Given the description of an element on the screen output the (x, y) to click on. 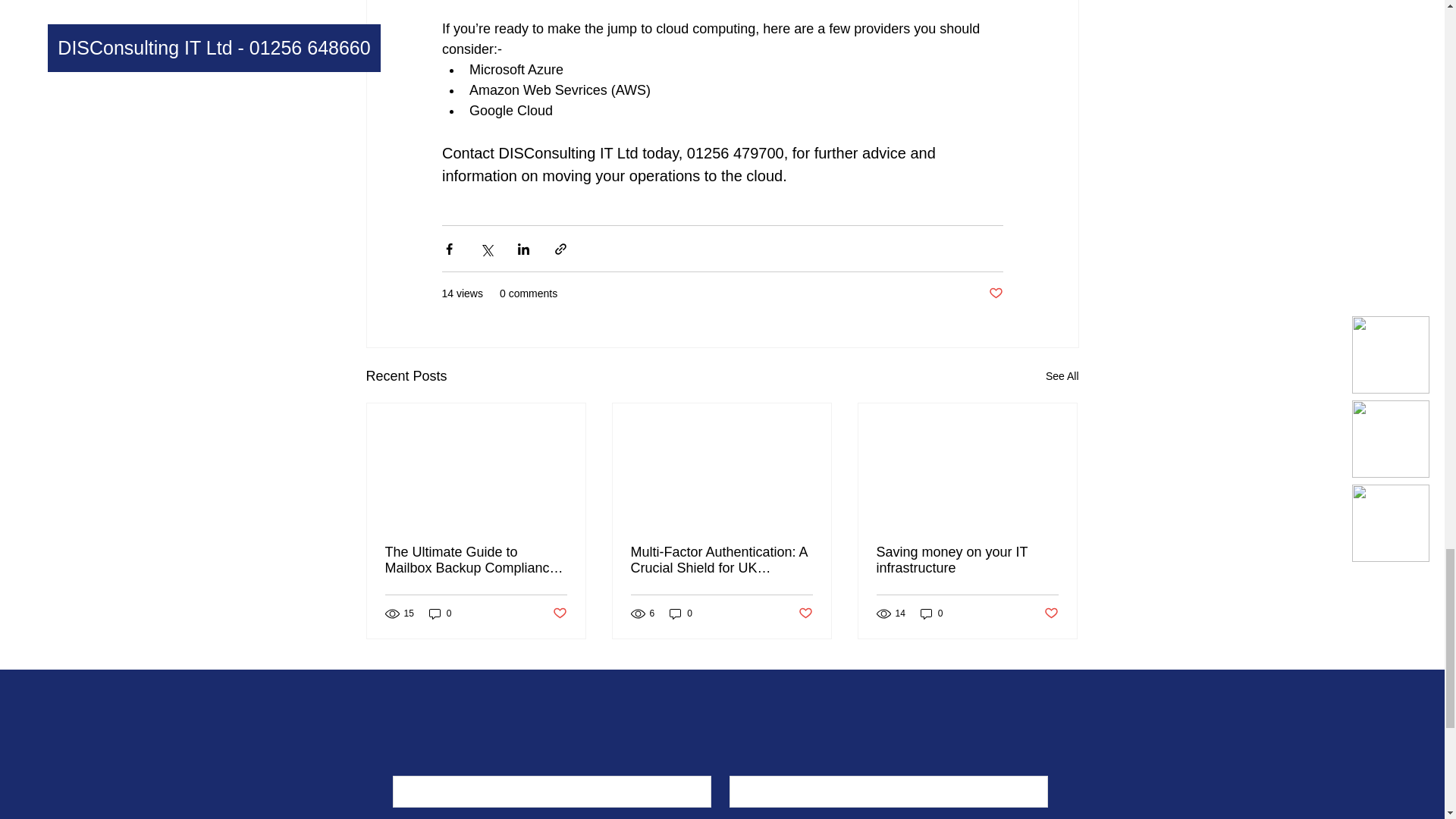
Post not marked as liked (804, 613)
Post not marked as liked (995, 293)
0 (440, 613)
0 (681, 613)
Post not marked as liked (558, 613)
See All (1061, 376)
Saving money on your IT infrastructure (967, 560)
Post not marked as liked (1050, 613)
